Given the description of an element on the screen output the (x, y) to click on. 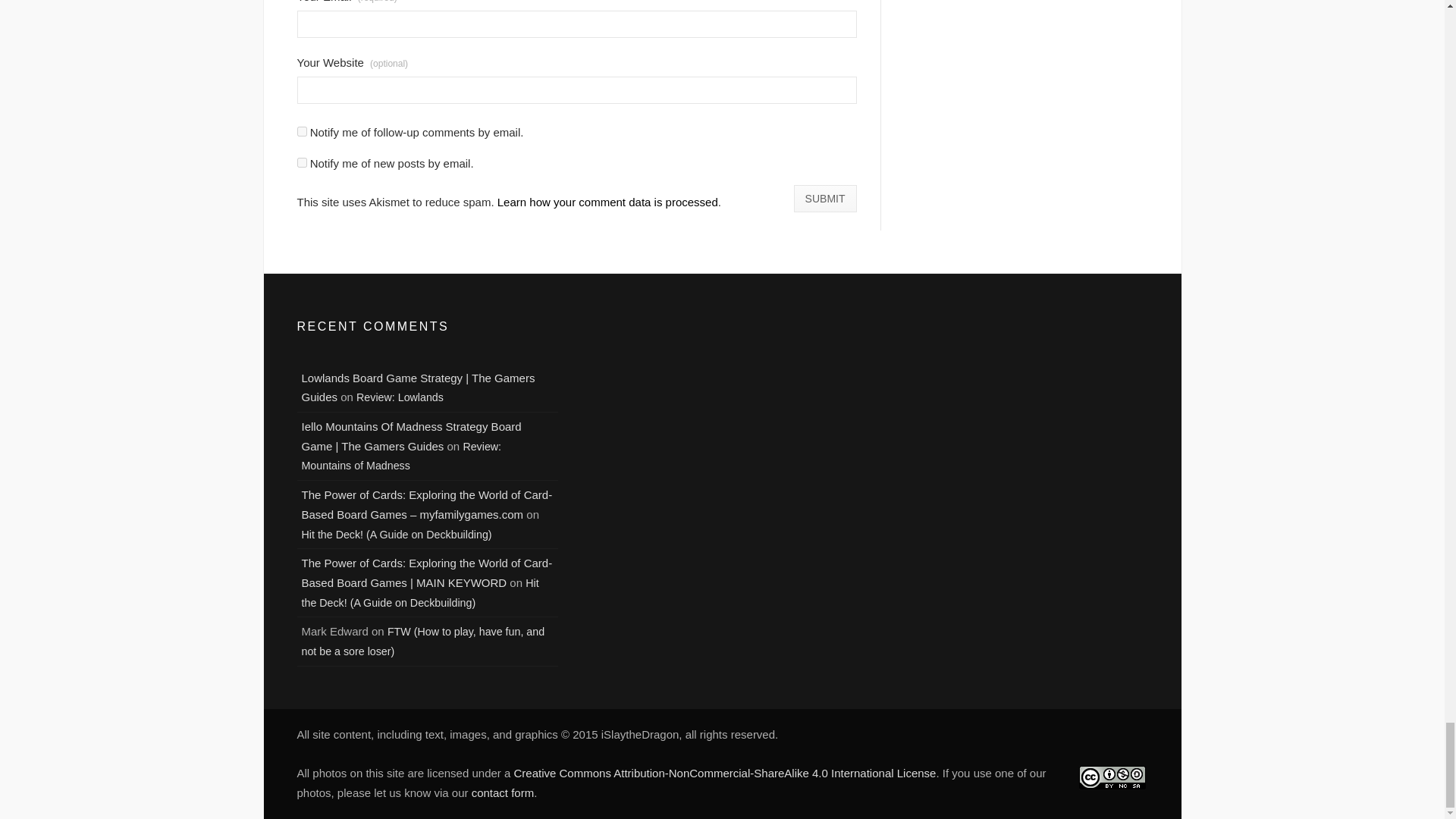
Submit (825, 198)
subscribe (302, 162)
subscribe (302, 131)
